Given the description of an element on the screen output the (x, y) to click on. 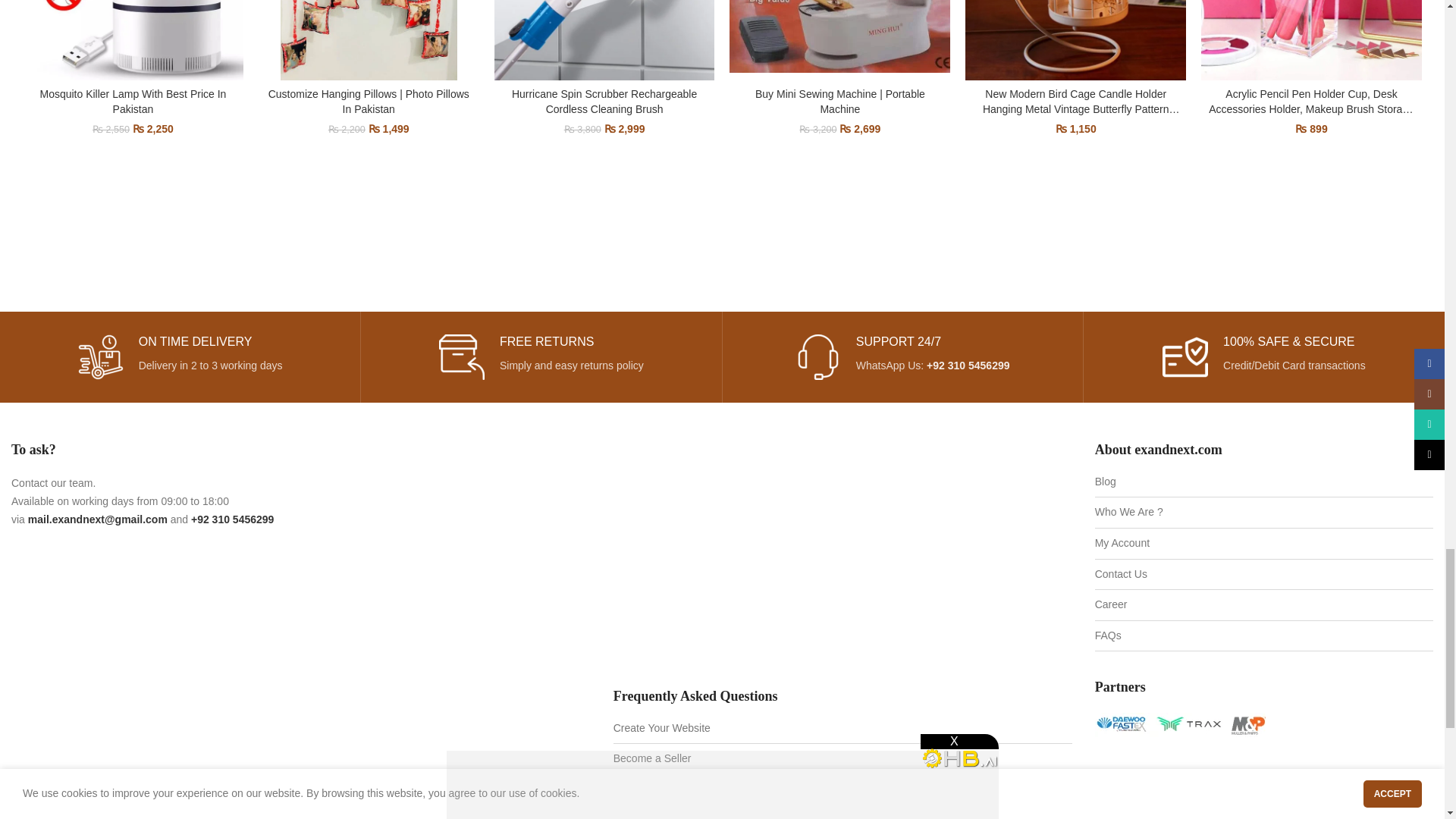
3rd party ad content (841, 553)
3rd party ad content (721, 224)
3rd party ad content (240, 662)
3rd party ad content (1264, 781)
courier brands (1179, 724)
